Given the description of an element on the screen output the (x, y) to click on. 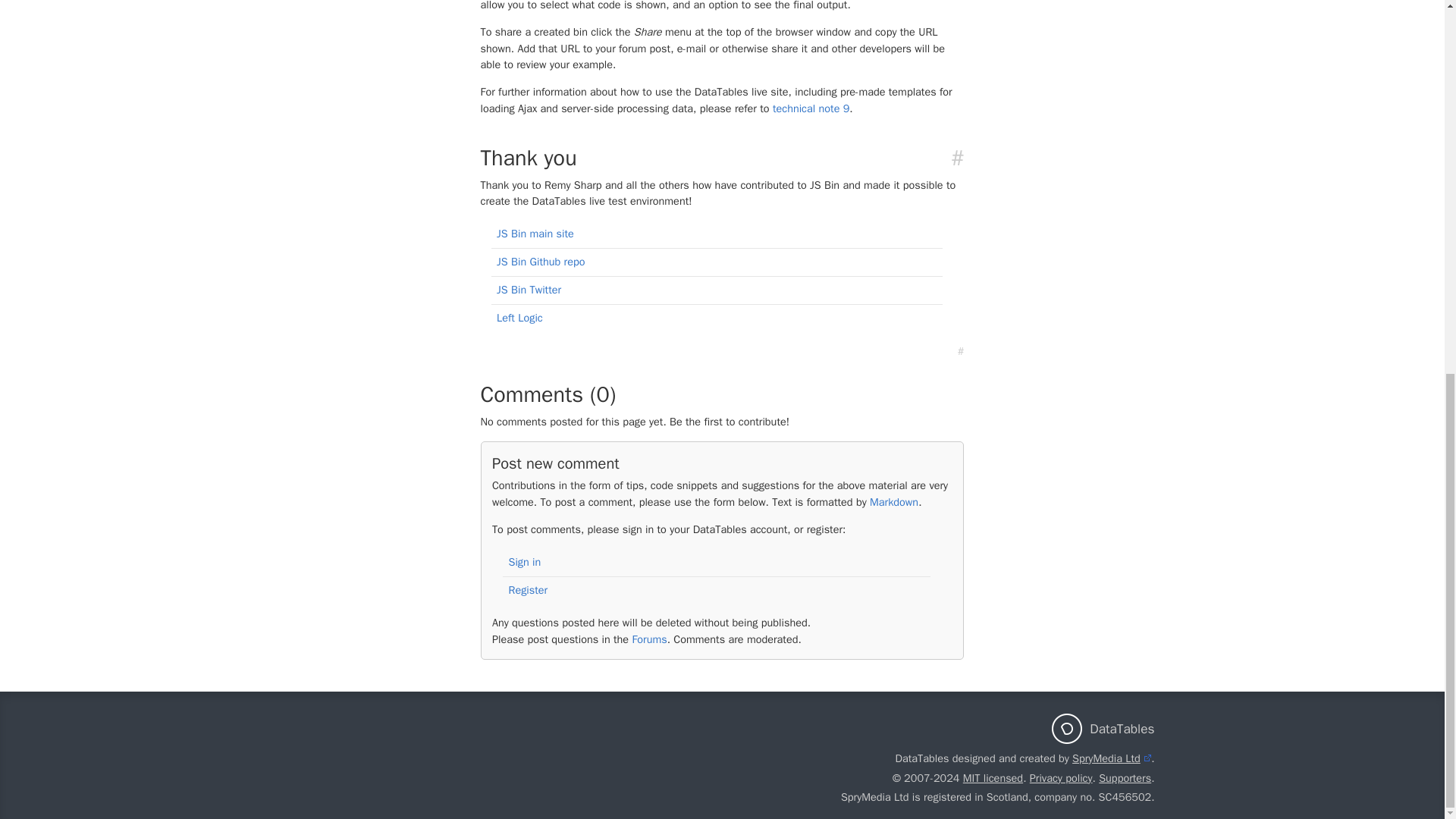
JS Bin main site (534, 233)
JS Bin Twitter (528, 289)
technical note 9 (810, 108)
Markdown (893, 501)
JS Bin Github repo (540, 261)
Forums (648, 639)
Sign in (524, 561)
Left Logic (519, 317)
Register (527, 590)
